Given the description of an element on the screen output the (x, y) to click on. 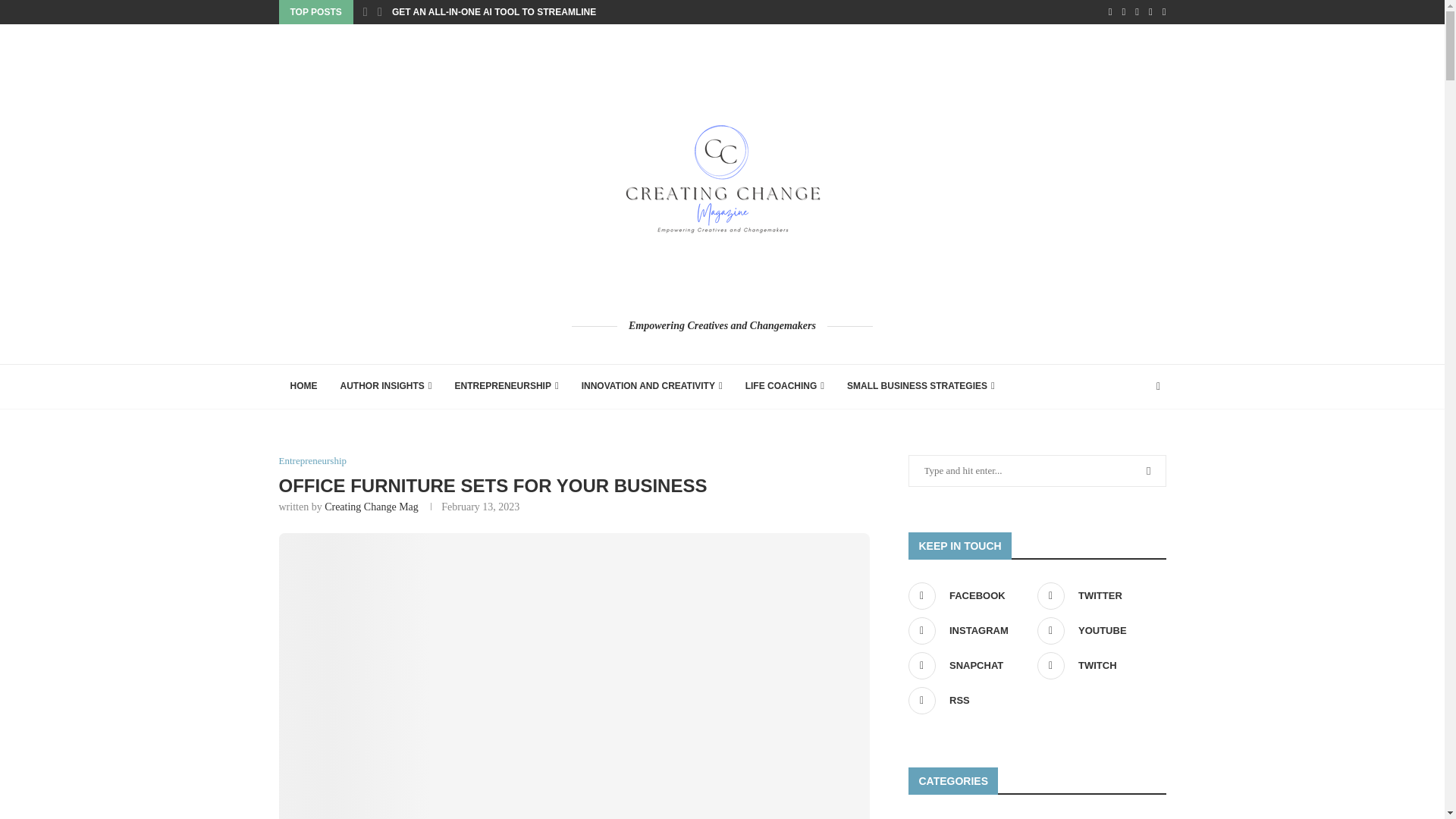
GET AN ALL-IN-ONE AI TOOL TO STREAMLINE EVERYTHING... (528, 12)
HOME (304, 386)
AUTHOR INSIGHTS (386, 386)
ENTREPRENEURSHIP (507, 386)
